Given the description of an element on the screen output the (x, y) to click on. 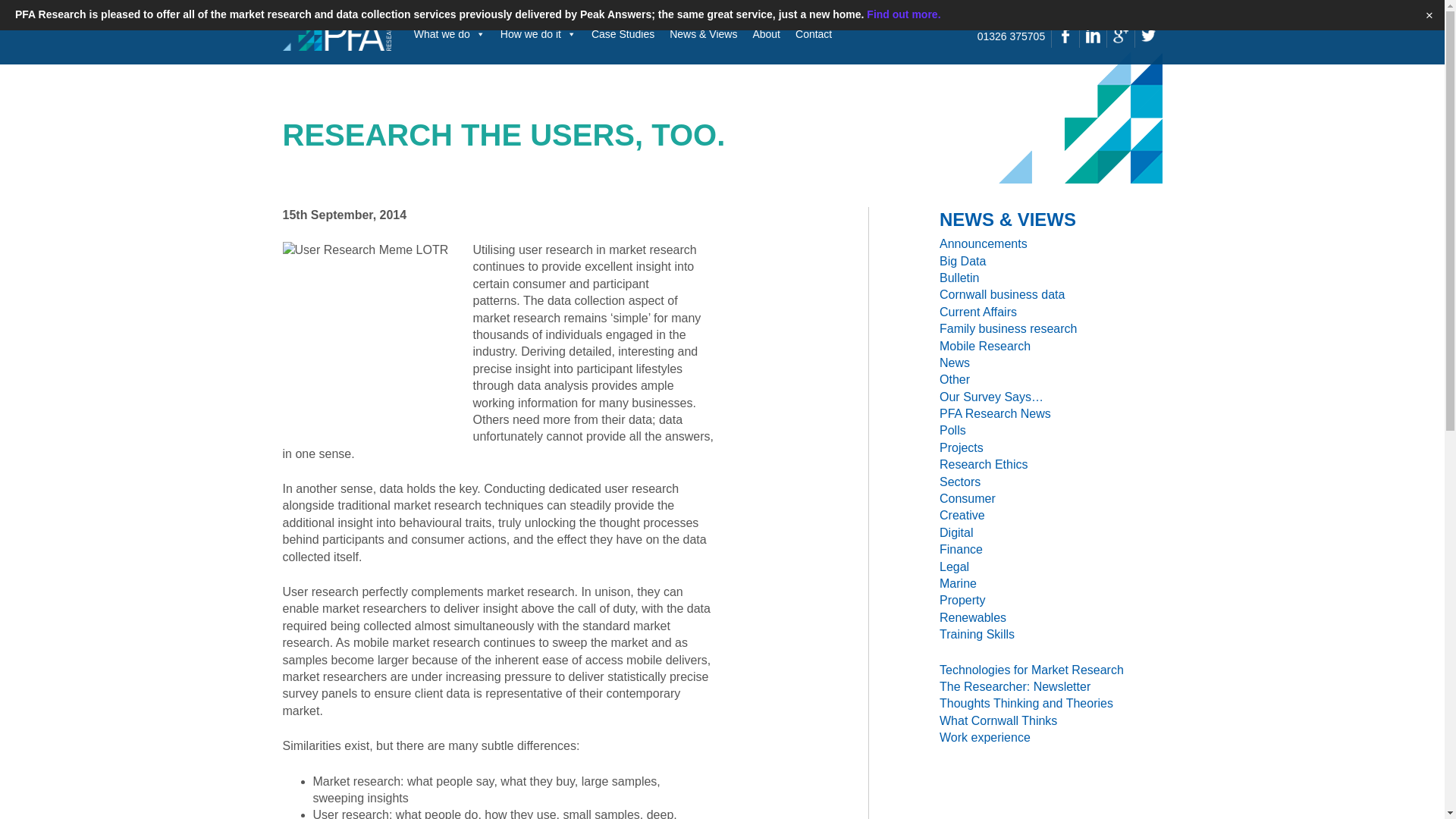
How we do it (538, 33)
What we do (449, 33)
Contact (813, 33)
Find out more. (903, 14)
About (765, 33)
Case Studies (622, 33)
